Given the description of an element on the screen output the (x, y) to click on. 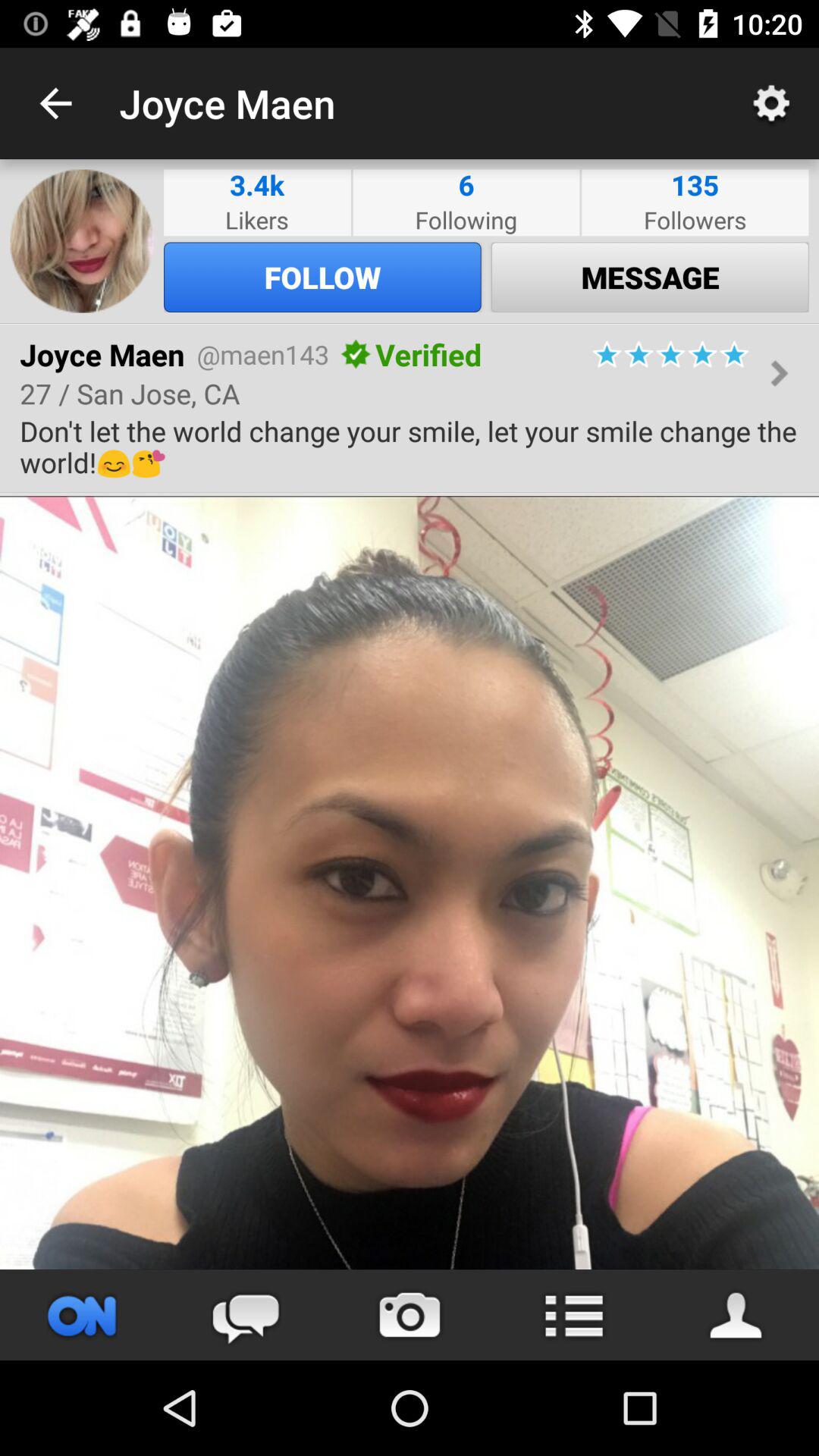
select the item above the message icon (694, 219)
